Given the description of an element on the screen output the (x, y) to click on. 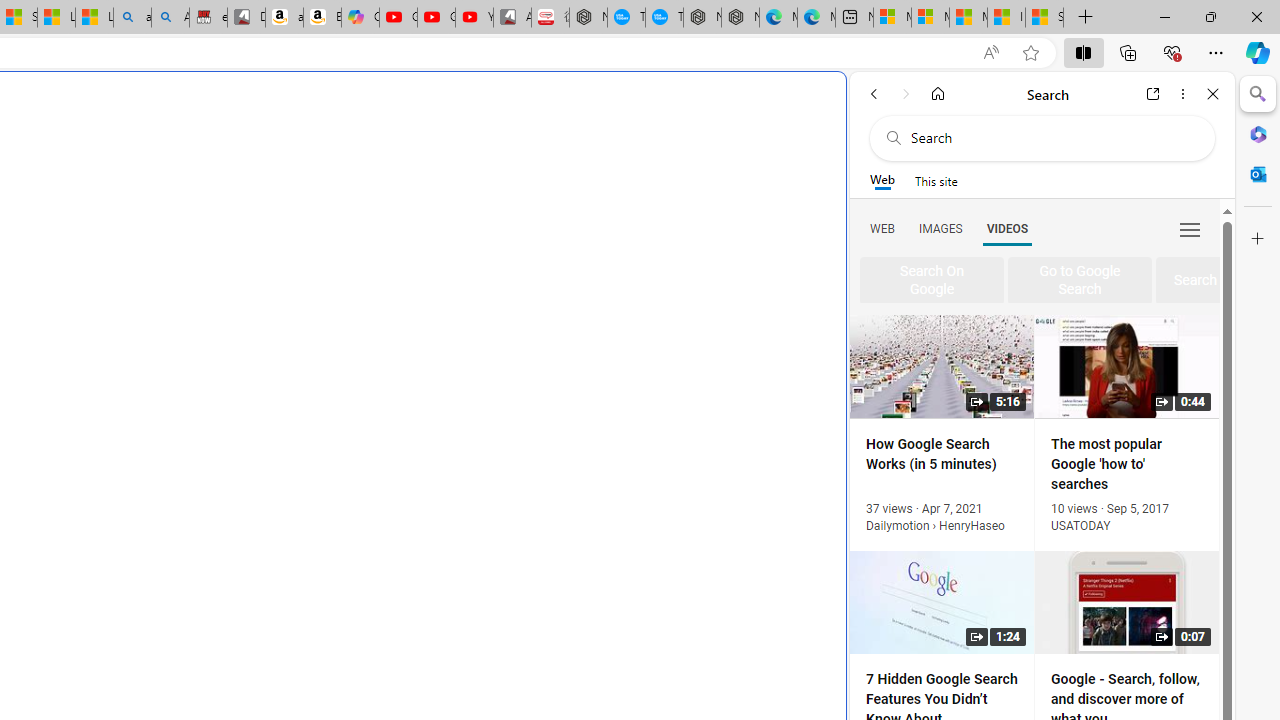
amazon - Search (132, 17)
Class: b_serphb (1190, 229)
Gloom - YouTube (436, 17)
More options (1182, 93)
Open link in new tab (1153, 93)
Microsoft 365 (1258, 133)
